Given the description of an element on the screen output the (x, y) to click on. 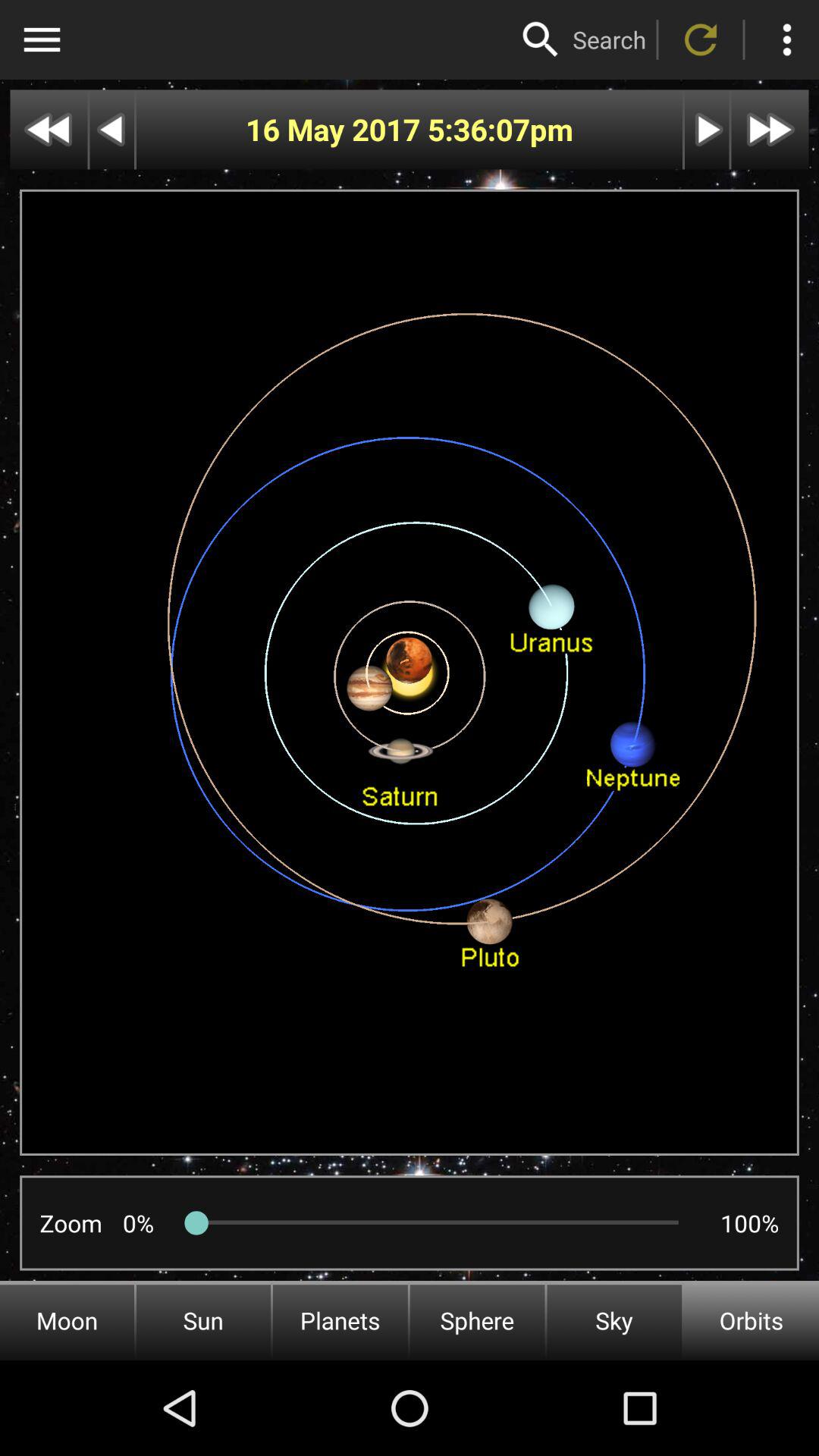
search (540, 39)
